Given the description of an element on the screen output the (x, y) to click on. 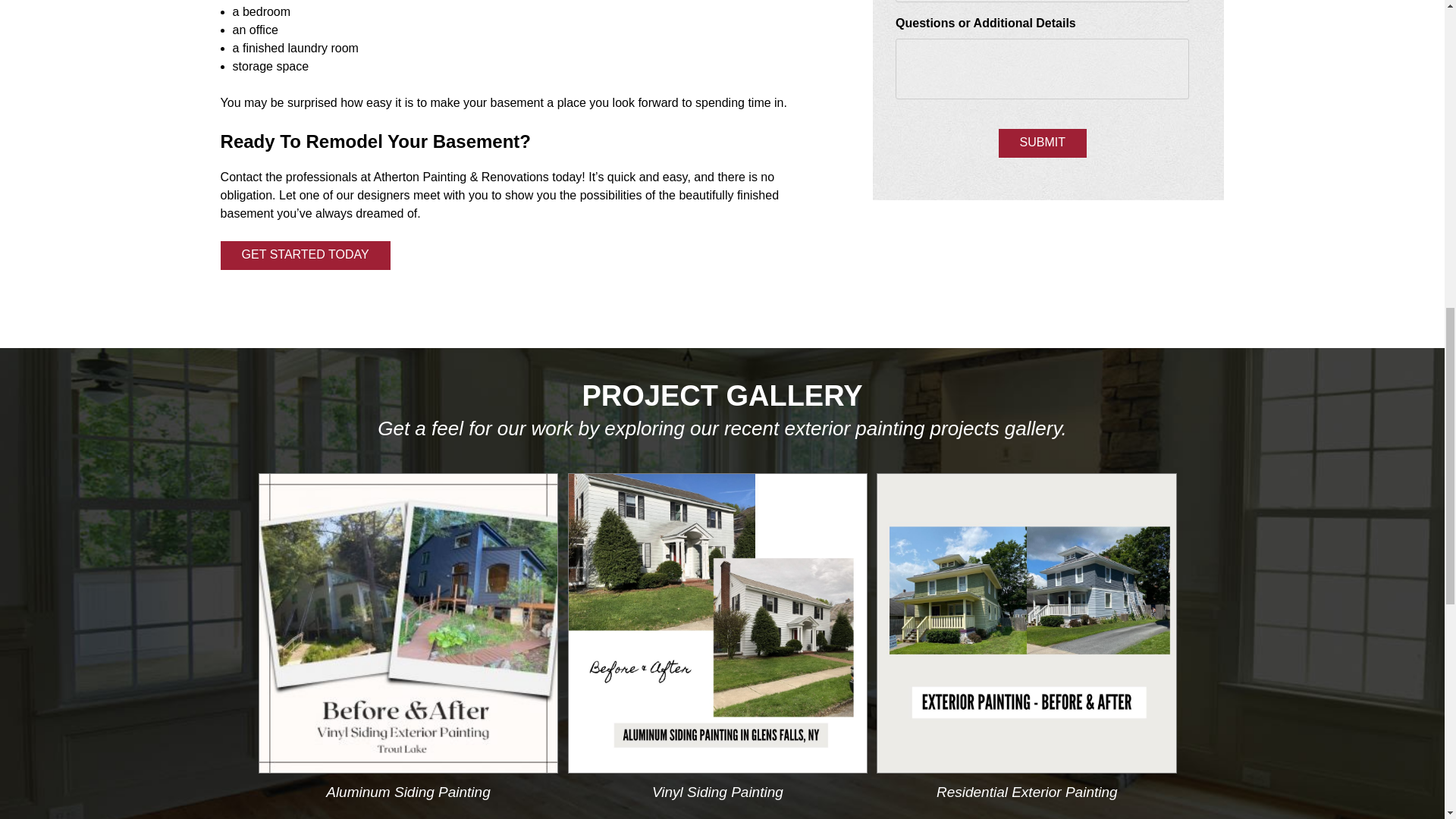
Submit (1042, 143)
Submit (1042, 143)
GET STARTED TODAY (305, 255)
